Given the description of an element on the screen output the (x, y) to click on. 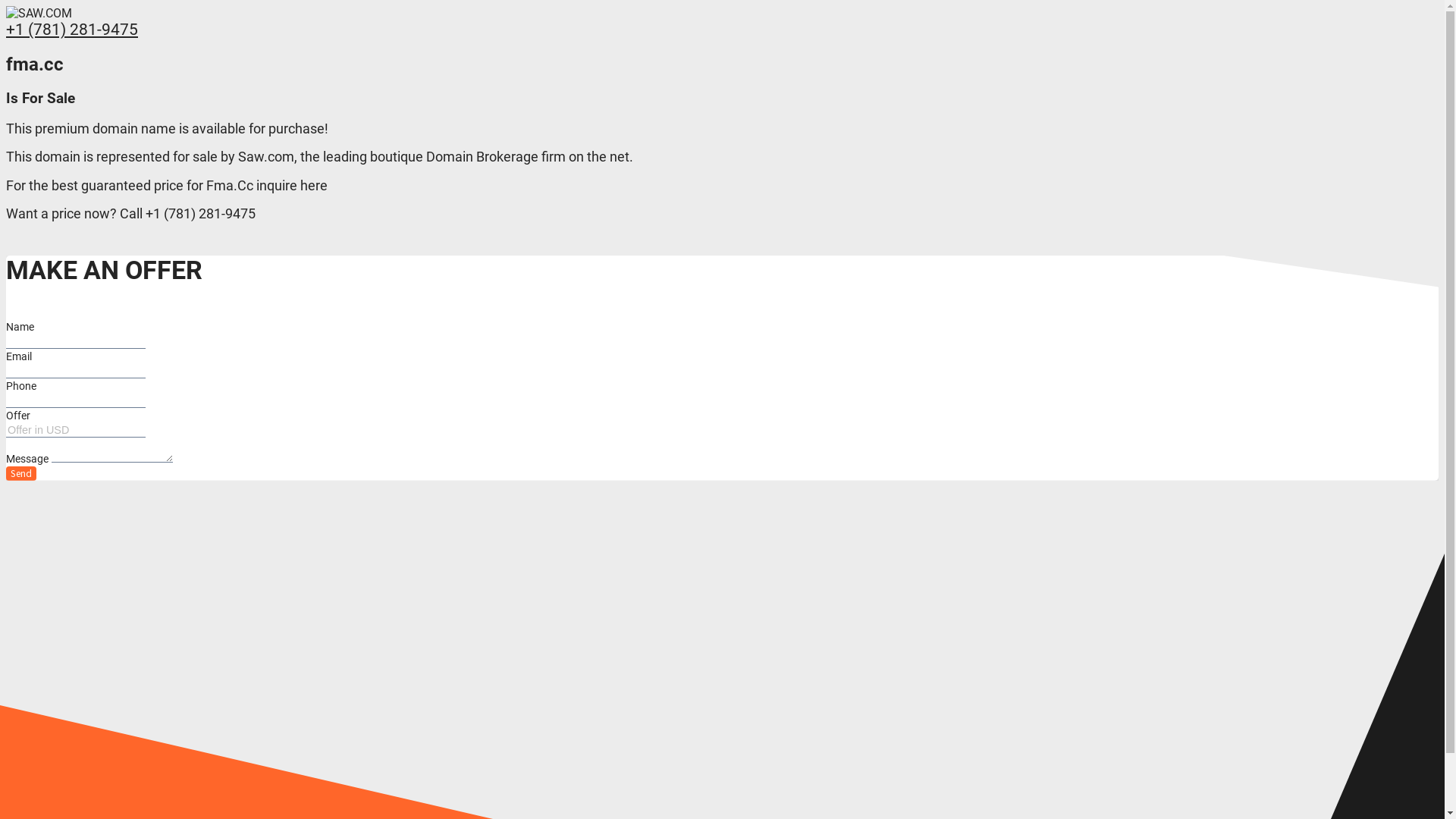
+1 (781) 281-9475 Element type: text (72, 29)
Send Element type: text (21, 473)
